Given the description of an element on the screen output the (x, y) to click on. 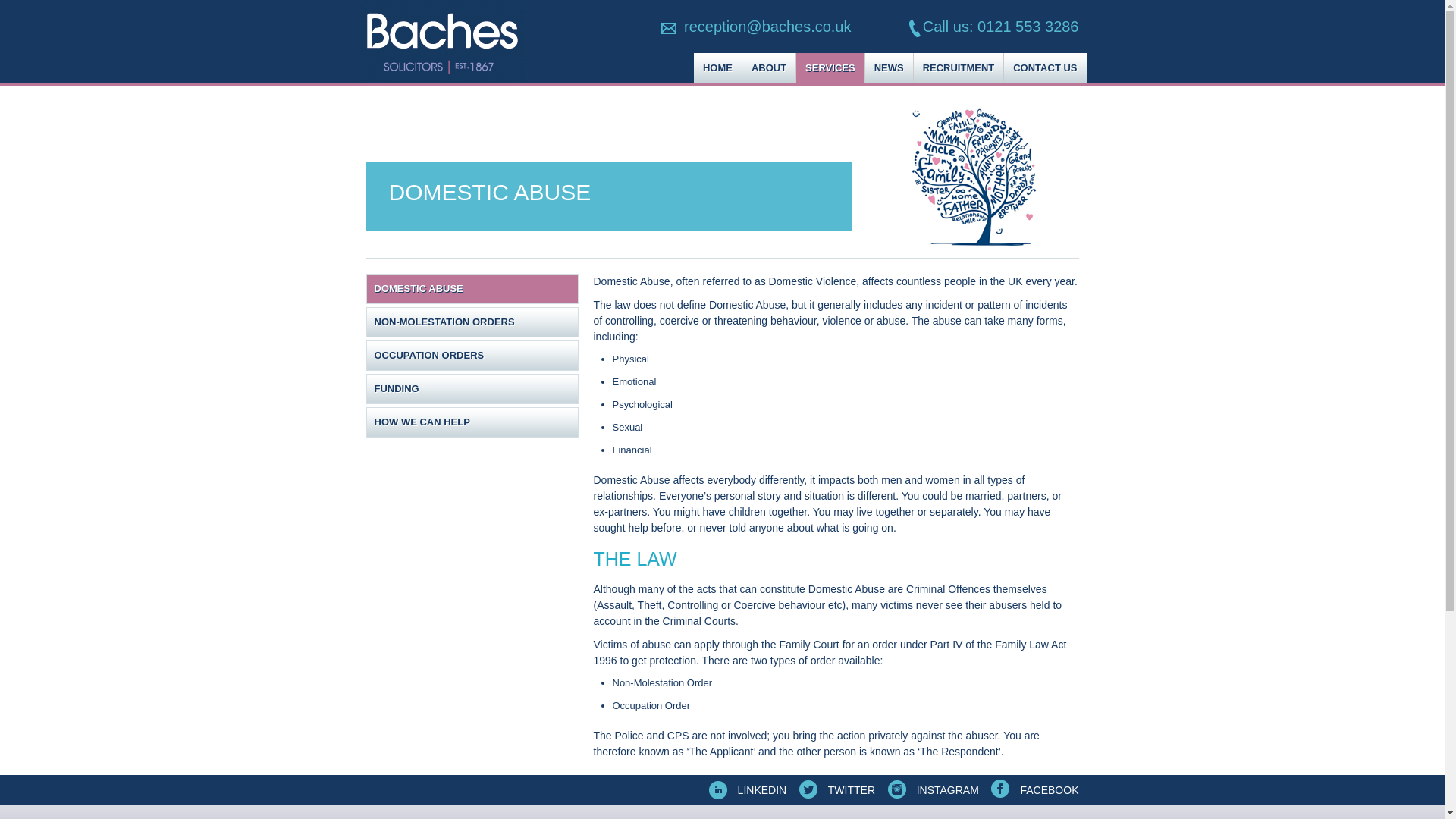
TWITTER (835, 789)
CONTACT US (1045, 68)
twitter (835, 789)
instagram (931, 789)
NON-MOLESTATION ORDERS (471, 322)
FUNDING (471, 388)
DOMESTIC ABUSE (471, 288)
HOW WE CAN HELP (471, 422)
INSTAGRAM (931, 789)
LINKEDIN (746, 789)
HOME (718, 68)
NEWS (889, 68)
ABOUT (769, 68)
OCCUPATION ORDERS (471, 355)
SERVICES (830, 68)
